Given the description of an element on the screen output the (x, y) to click on. 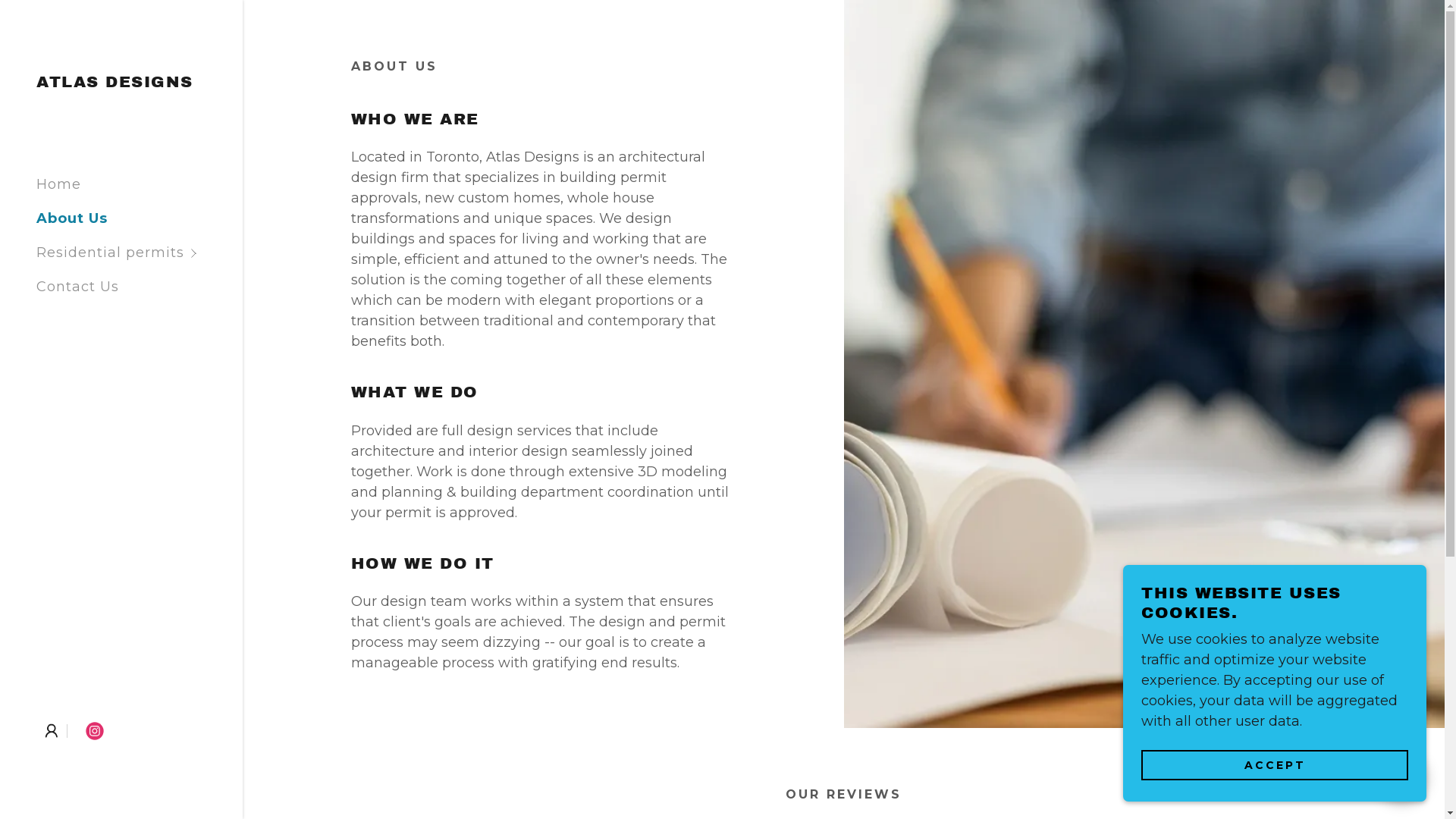
ACCEPT Element type: text (1274, 764)
Home Element type: text (58, 183)
Contact Us Element type: text (77, 286)
ATLAS DESIGNS Element type: text (114, 82)
Residential permits Element type: text (139, 252)
About Us Element type: text (71, 218)
